Given the description of an element on the screen output the (x, y) to click on. 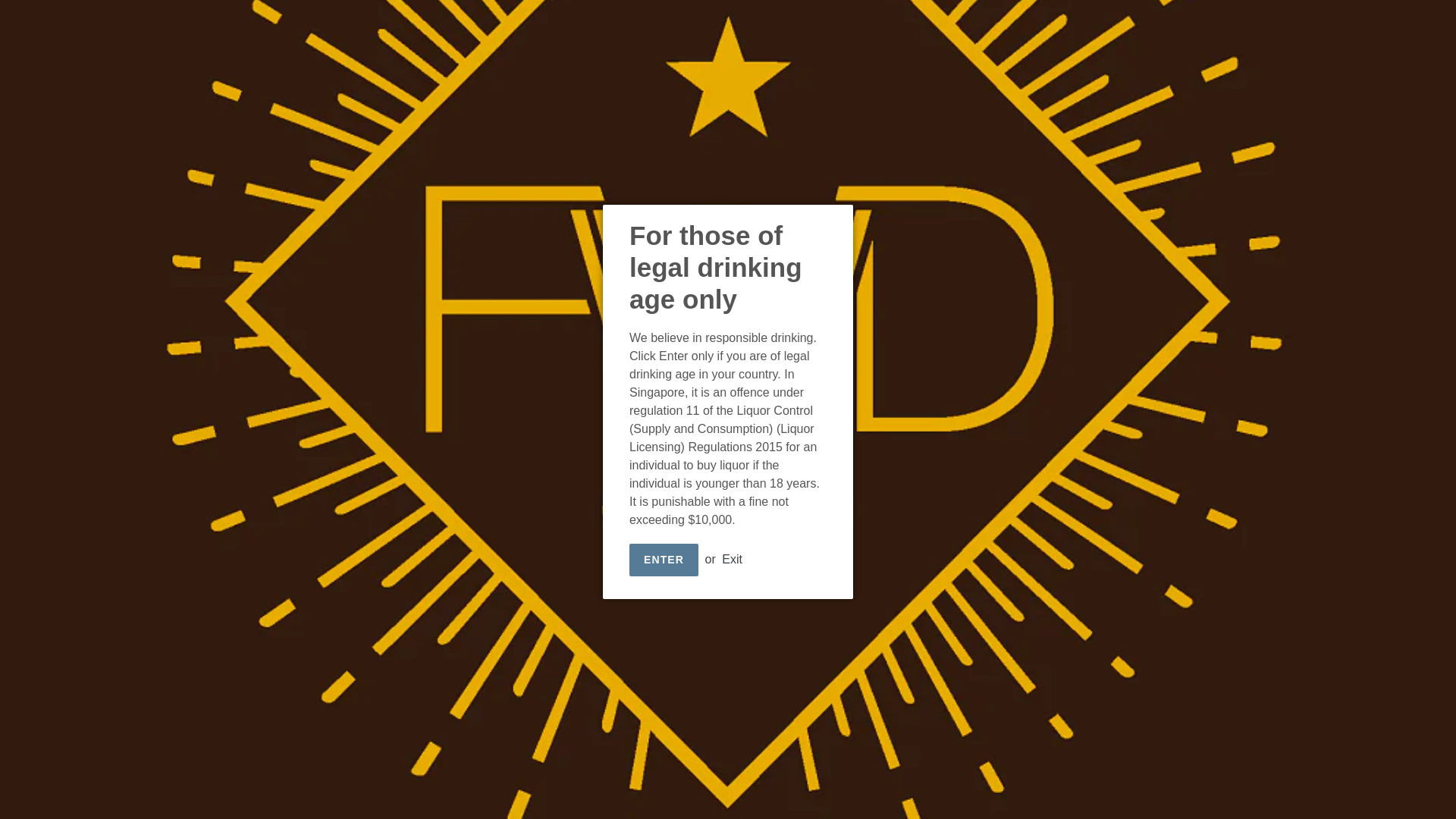
Log in (1360, 38)
Home (625, 38)
ENTER (663, 559)
Cart (1395, 38)
Exit (732, 558)
Submit (1324, 38)
About Us (753, 38)
